Given the description of an element on the screen output the (x, y) to click on. 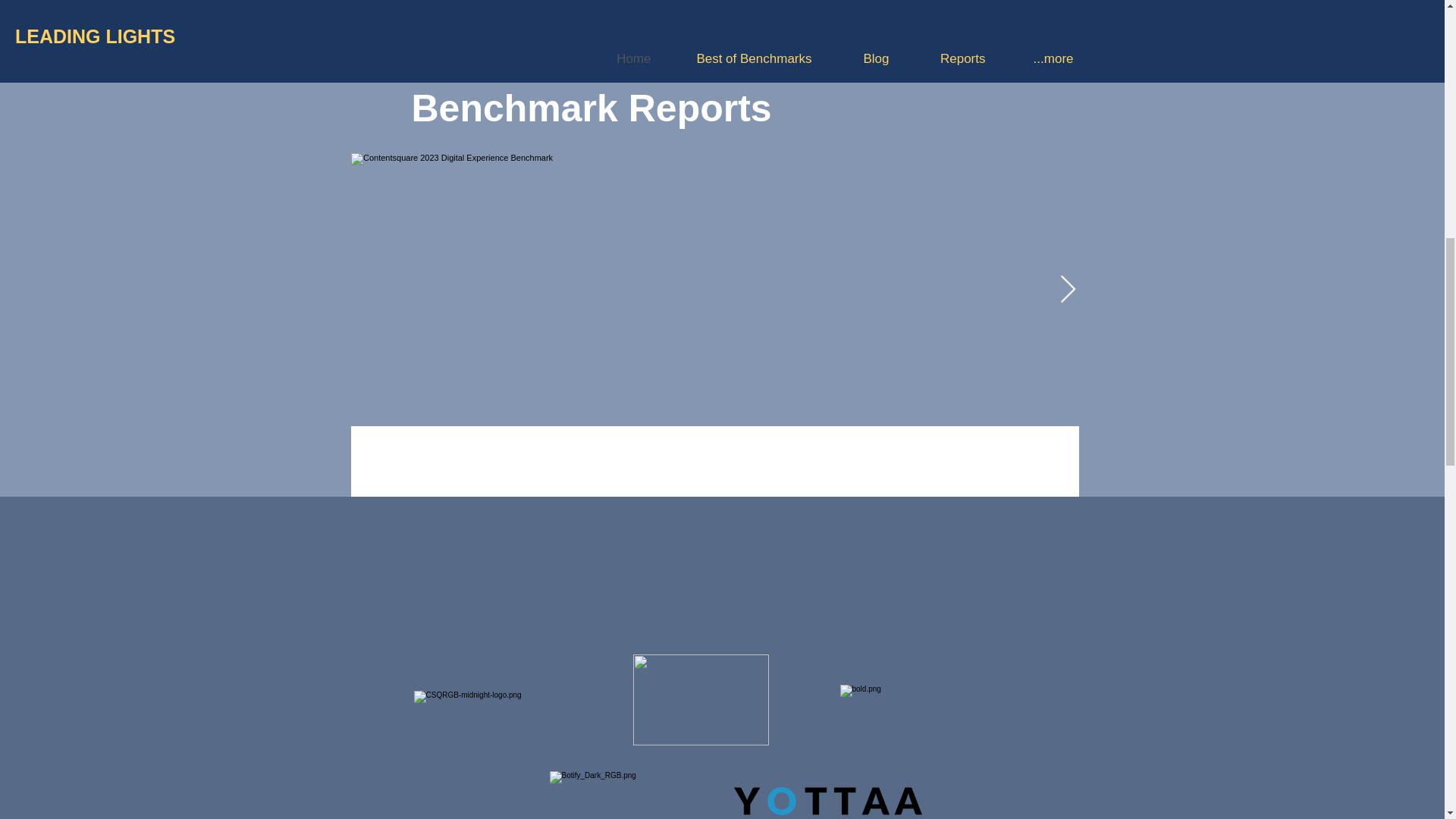
YOTTAA logo.png (827, 800)
YOTTAA logo.png (507, 712)
YOTTAA logo.png (614, 795)
Logo-Mirakl-Blue-Standard.png (699, 699)
YOTTAA logo.png (932, 711)
